Given the description of an element on the screen output the (x, y) to click on. 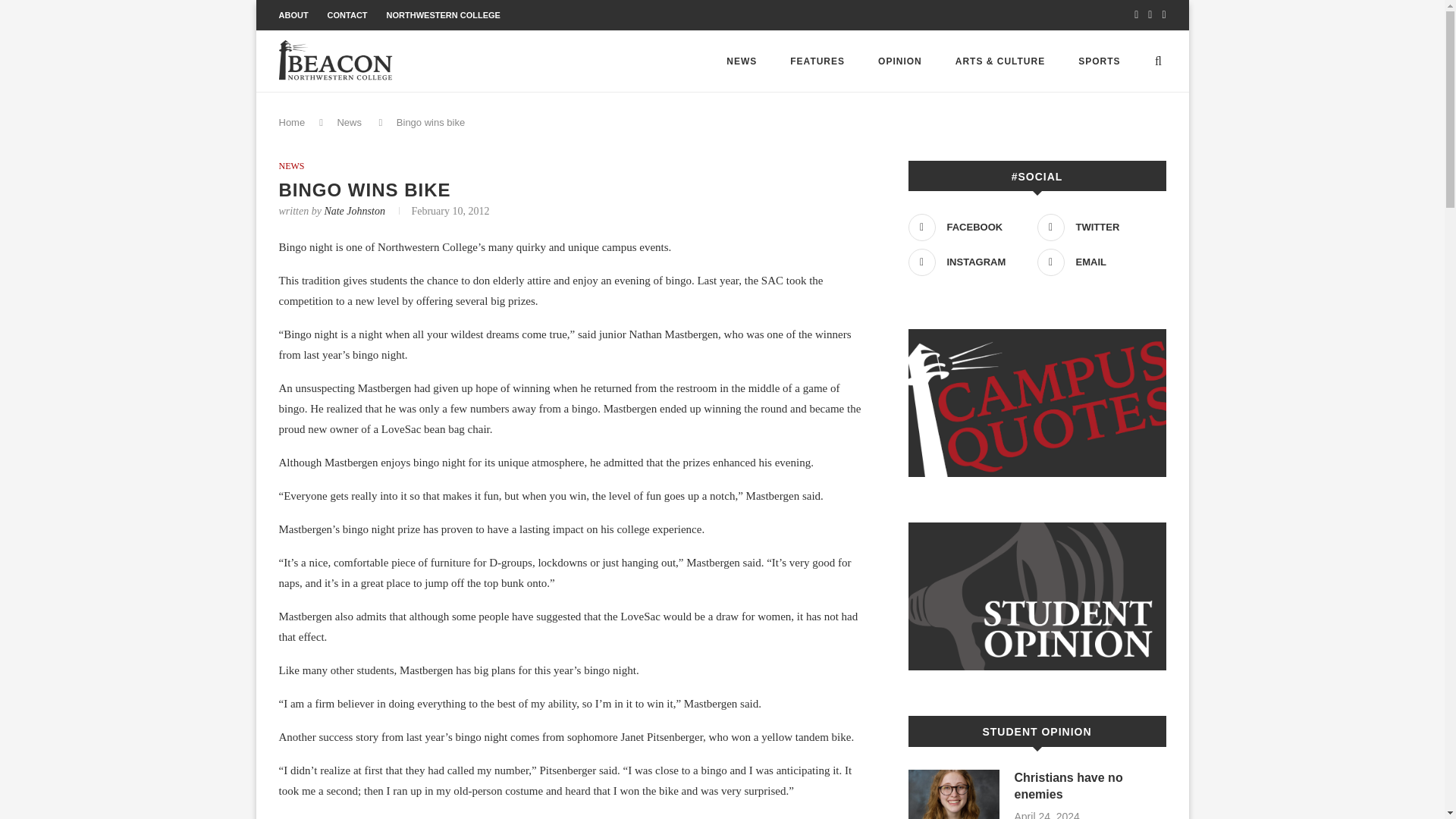
CONTACT (347, 14)
View all posts in News (291, 165)
News (348, 122)
Christians have no enemies (1090, 786)
NORTHWESTERN COLLEGE (443, 14)
Christians have no enemies (953, 794)
FEATURES (817, 61)
ABOUT (293, 14)
Home (292, 122)
Nate Johnston (354, 211)
